Given the description of an element on the screen output the (x, y) to click on. 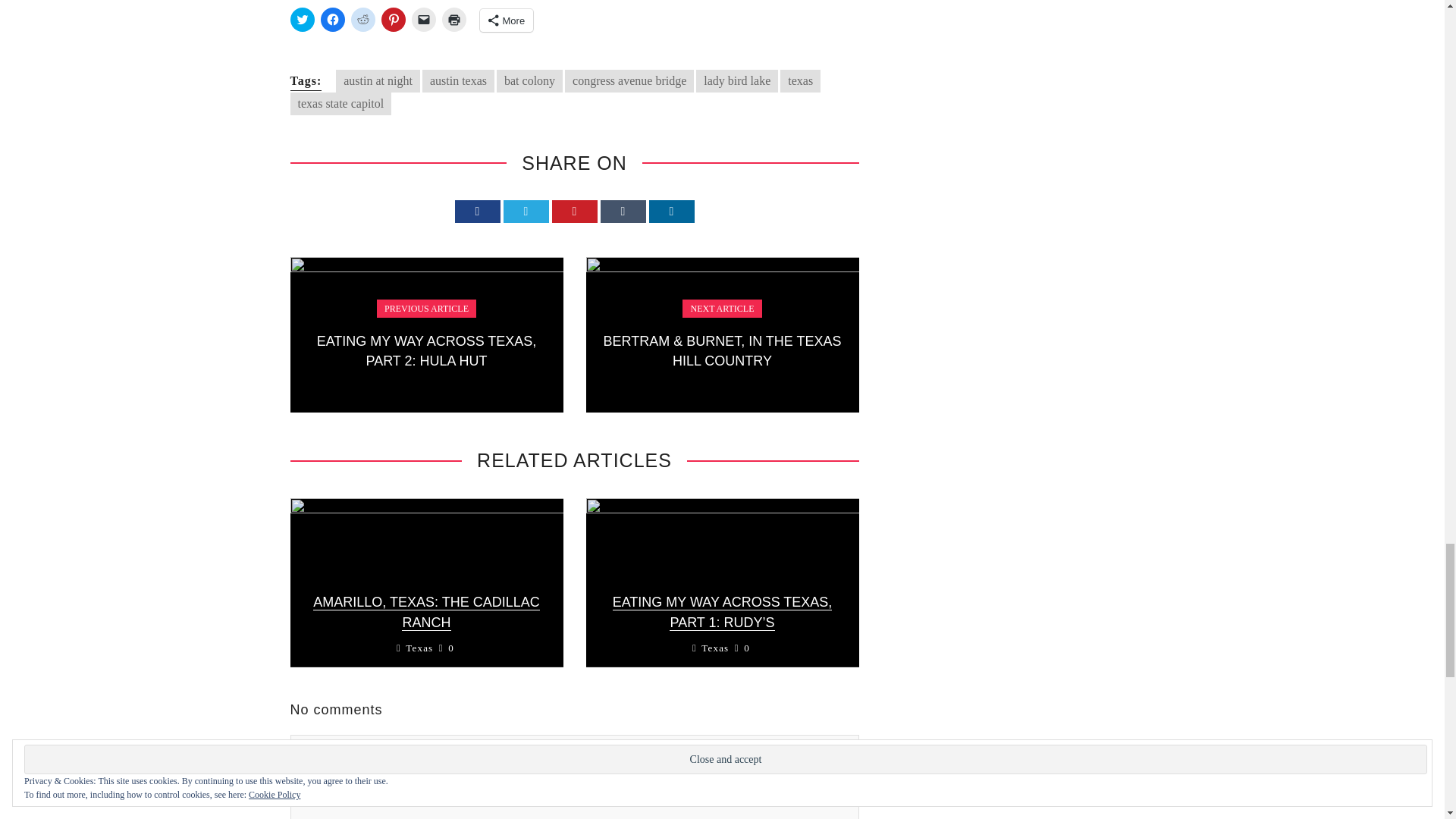
Click to share on Pinterest (392, 19)
Click to share on Twitter (301, 19)
Click to share on Reddit (362, 19)
Click to email a link to a friend (422, 19)
Click to print (453, 19)
Click to share on Facebook (331, 19)
